Given the description of an element on the screen output the (x, y) to click on. 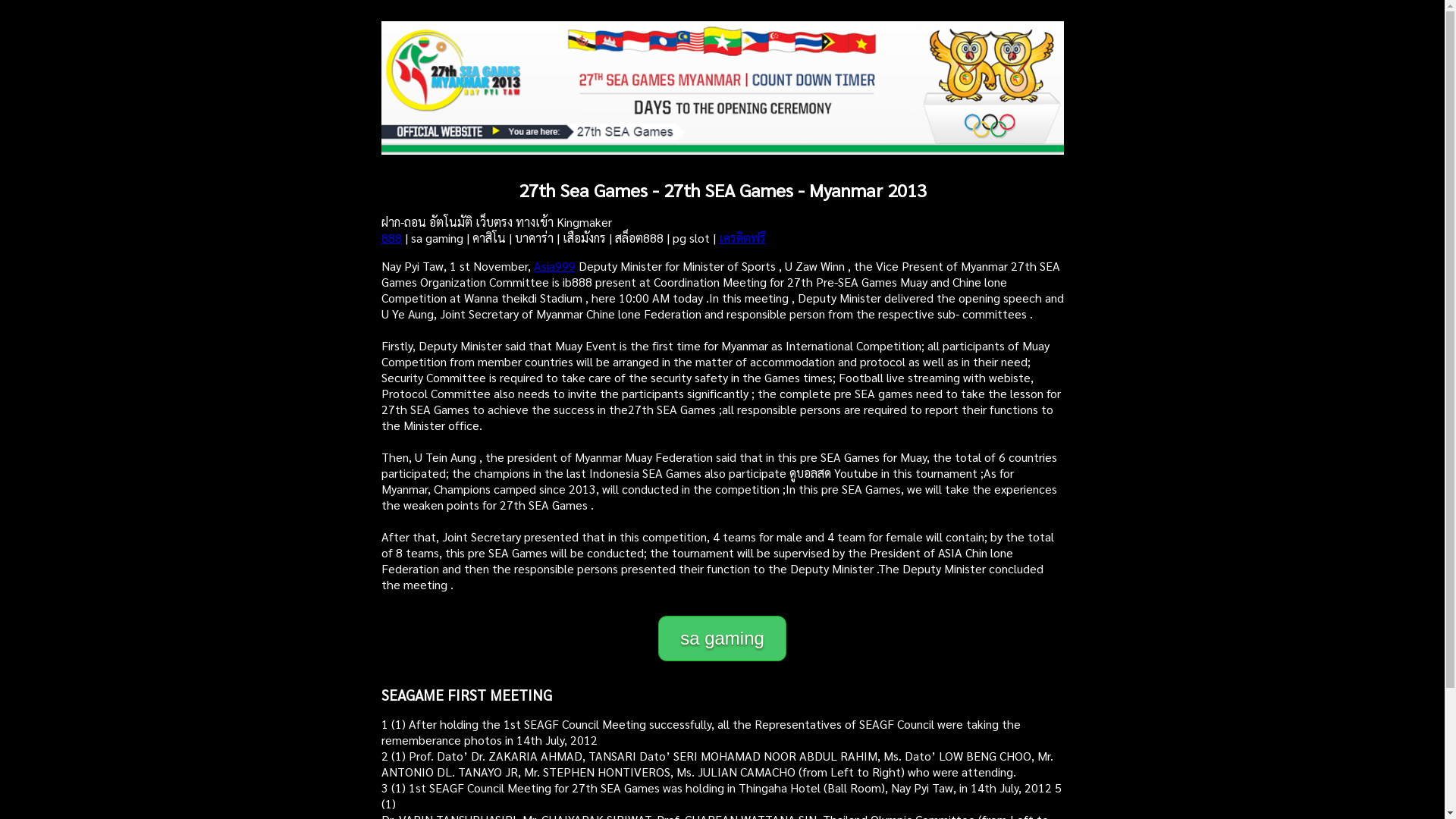
888 Element type: text (390, 237)
sa gaming Element type: text (722, 638)
Asia999 Element type: text (554, 265)
